Given the description of an element on the screen output the (x, y) to click on. 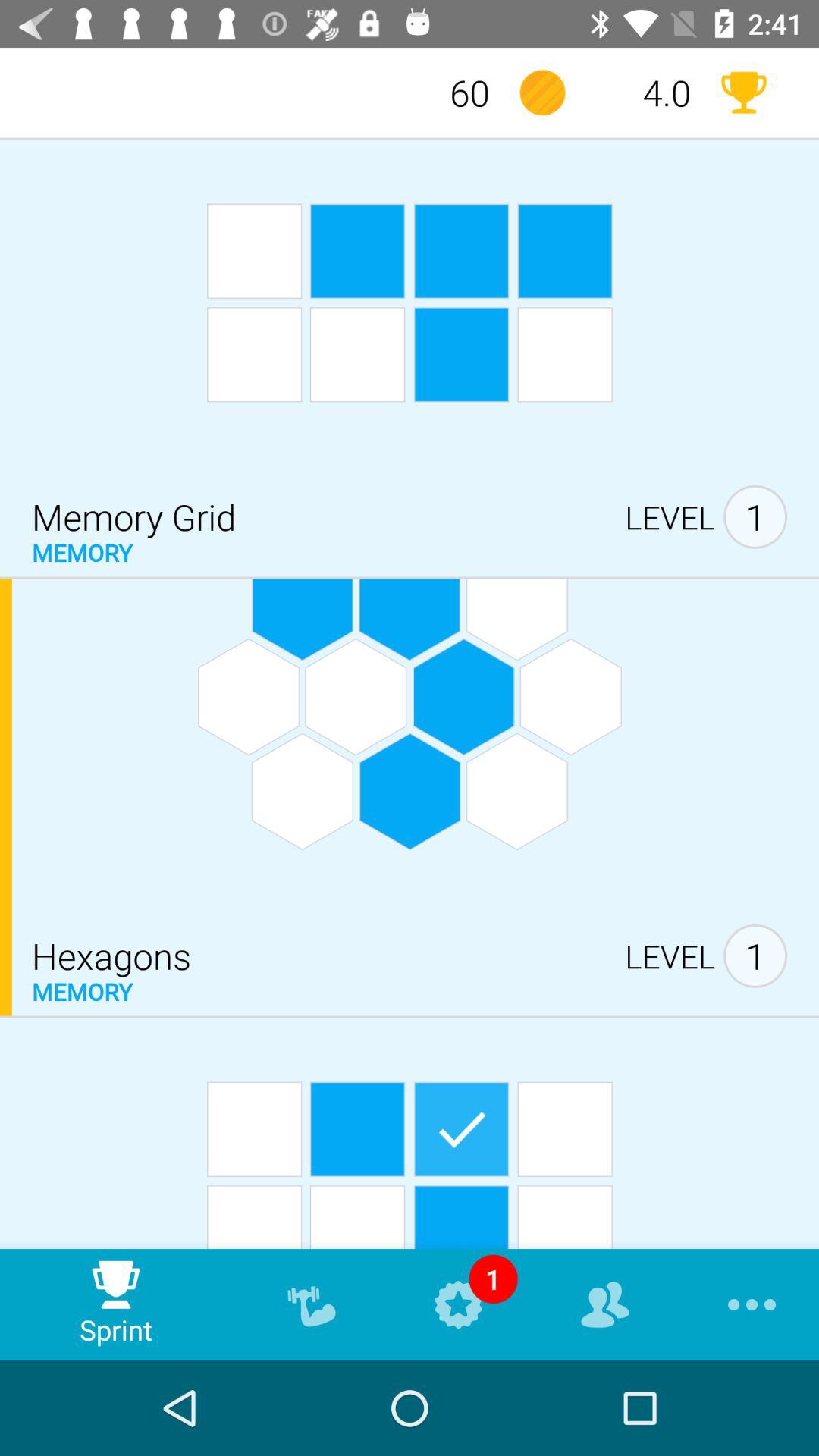
swipe until 4.0 (642, 92)
